Given the description of an element on the screen output the (x, y) to click on. 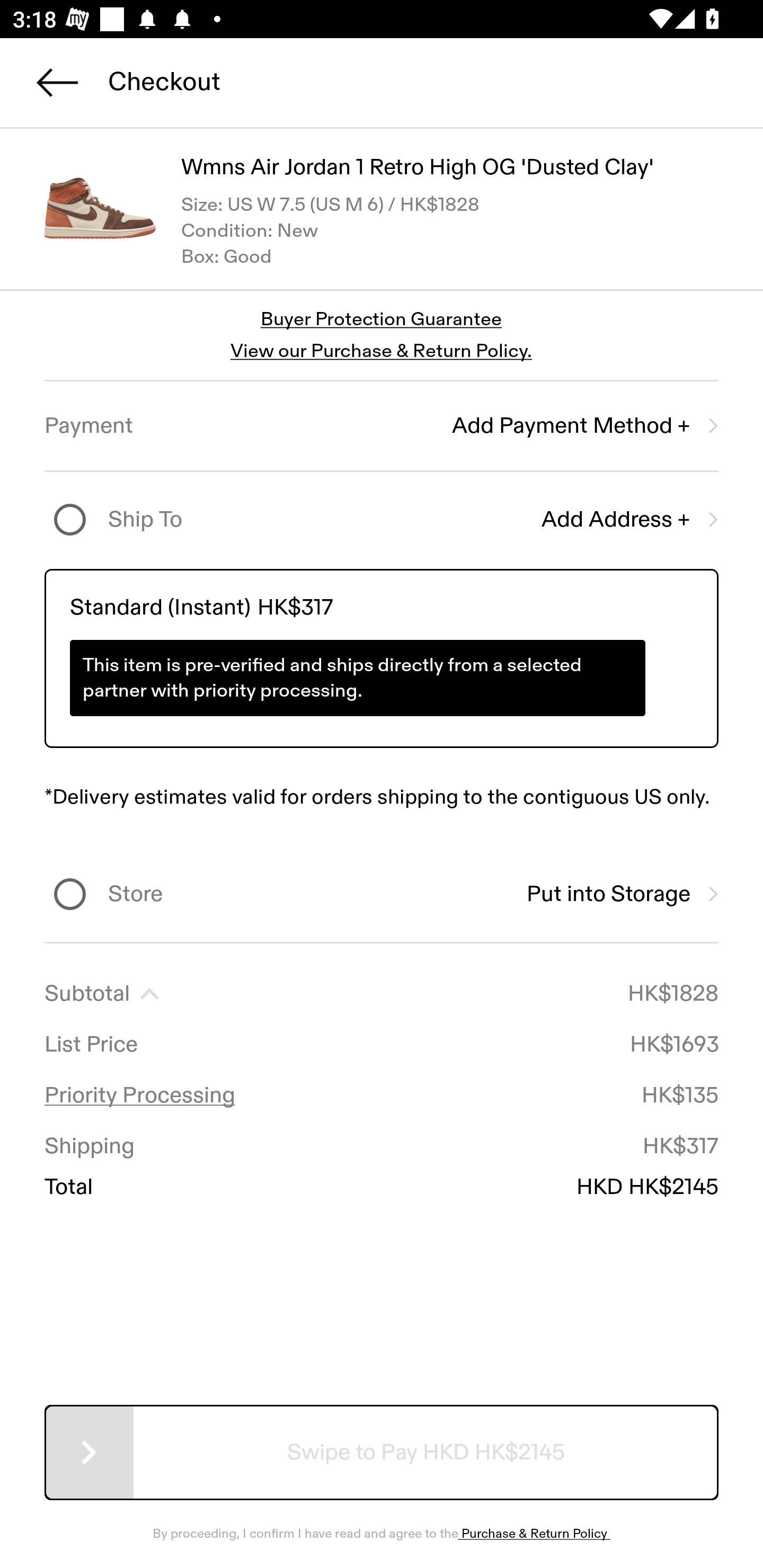
Navigate up (56, 82)
Buyer Protection Guarantee (381, 319)
View our Purchase & Return Policy. (380, 350)
Payment Add Payment Method + (381, 425)
Subtotal HK$1828 (381, 994)
Priority Processing HK$135 (381, 1095)
